Given the description of an element on the screen output the (x, y) to click on. 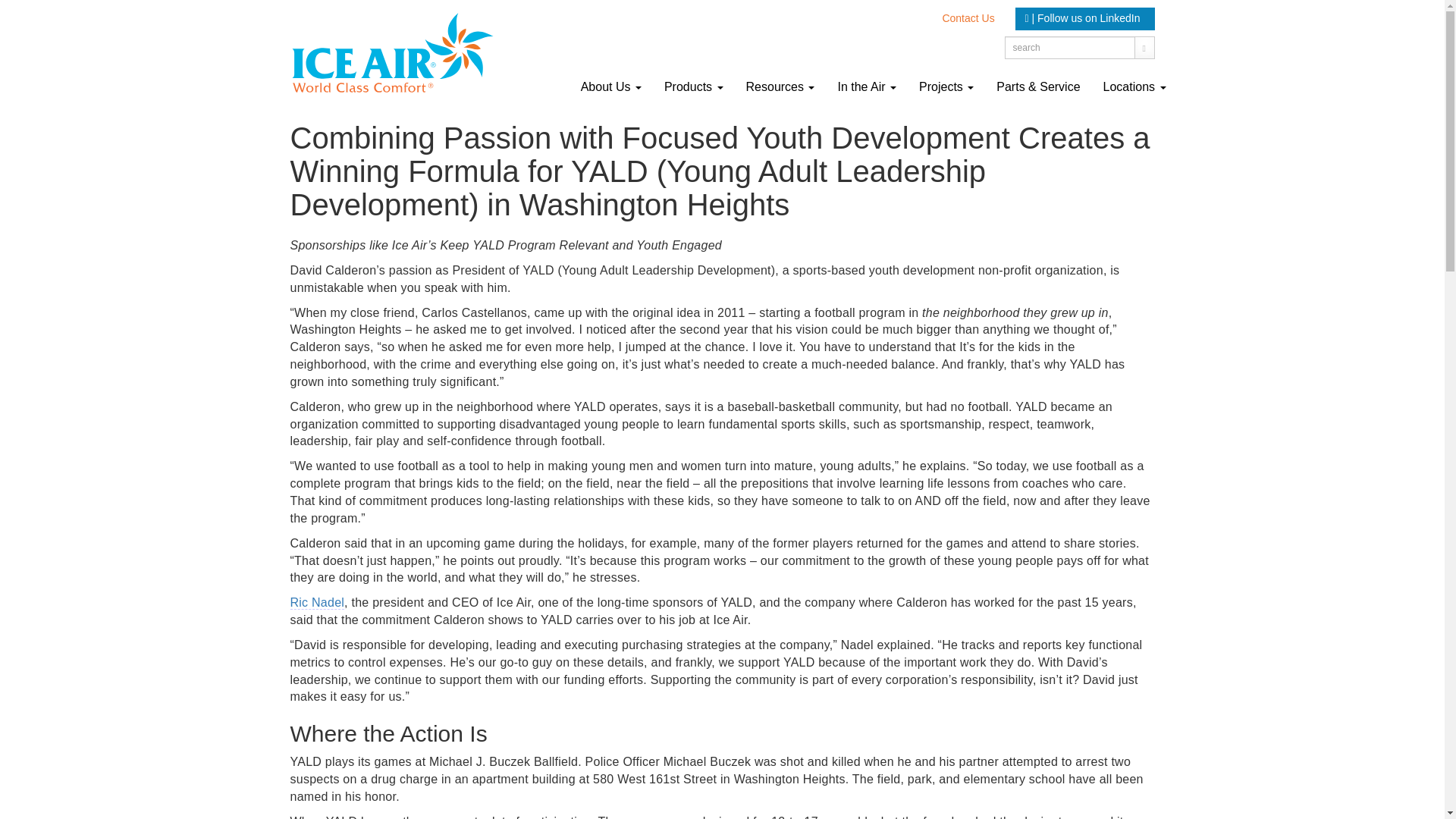
Locations (1134, 86)
About Us (610, 86)
About Us (610, 86)
Contact Us (967, 17)
Projects (946, 86)
Resources (781, 86)
Products (693, 86)
In the Air (866, 86)
Products (693, 86)
